Given the description of an element on the screen output the (x, y) to click on. 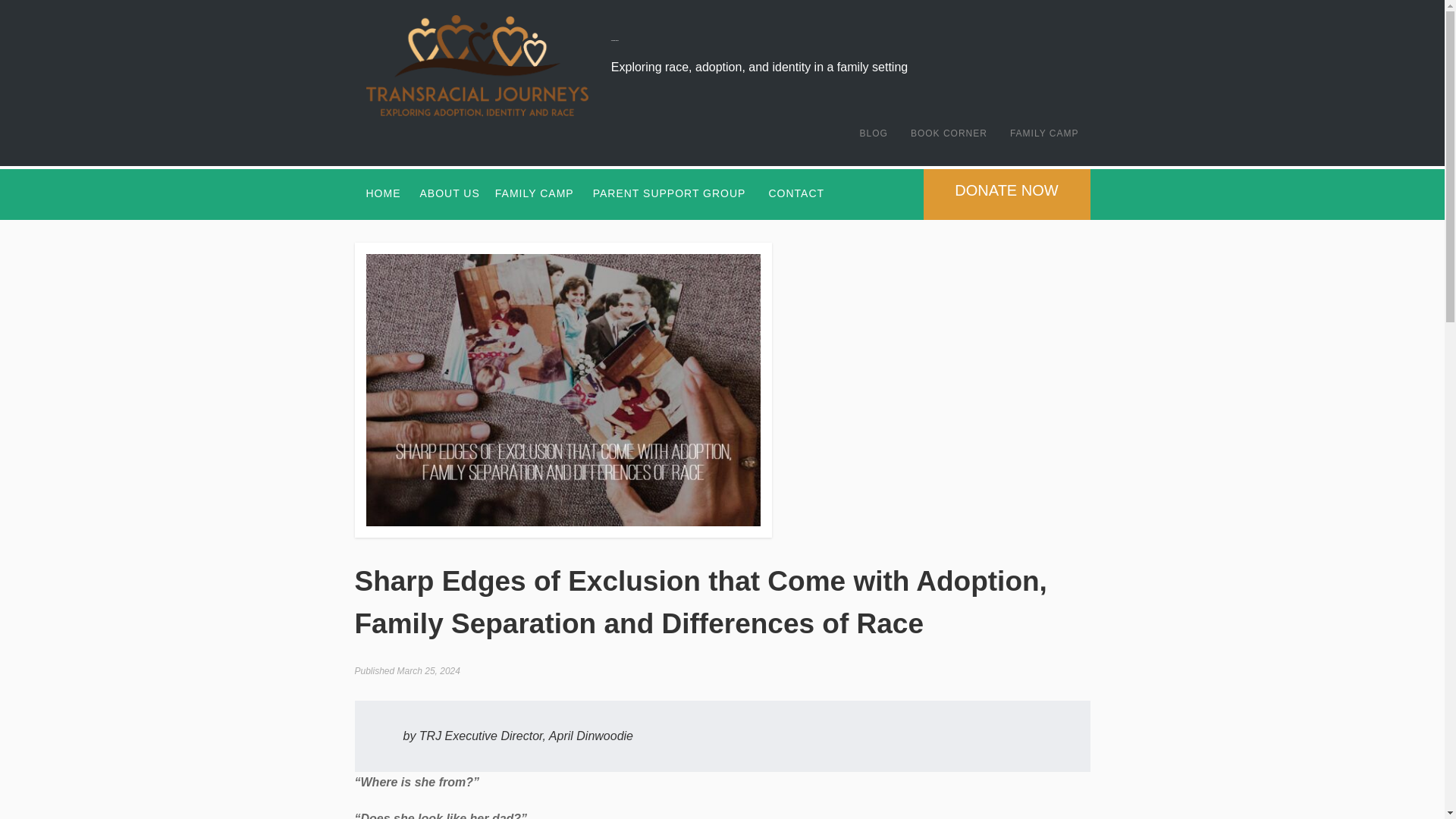
by TRJ Executive Director, April Dinwoodie (518, 735)
FAMILY CAMP (533, 193)
BOOK CORNER (948, 133)
FAMILY CAMP (1044, 133)
FAQS (530, 261)
HOME (383, 193)
CONTACT (796, 193)
ABOUT US (449, 193)
